Given the description of an element on the screen output the (x, y) to click on. 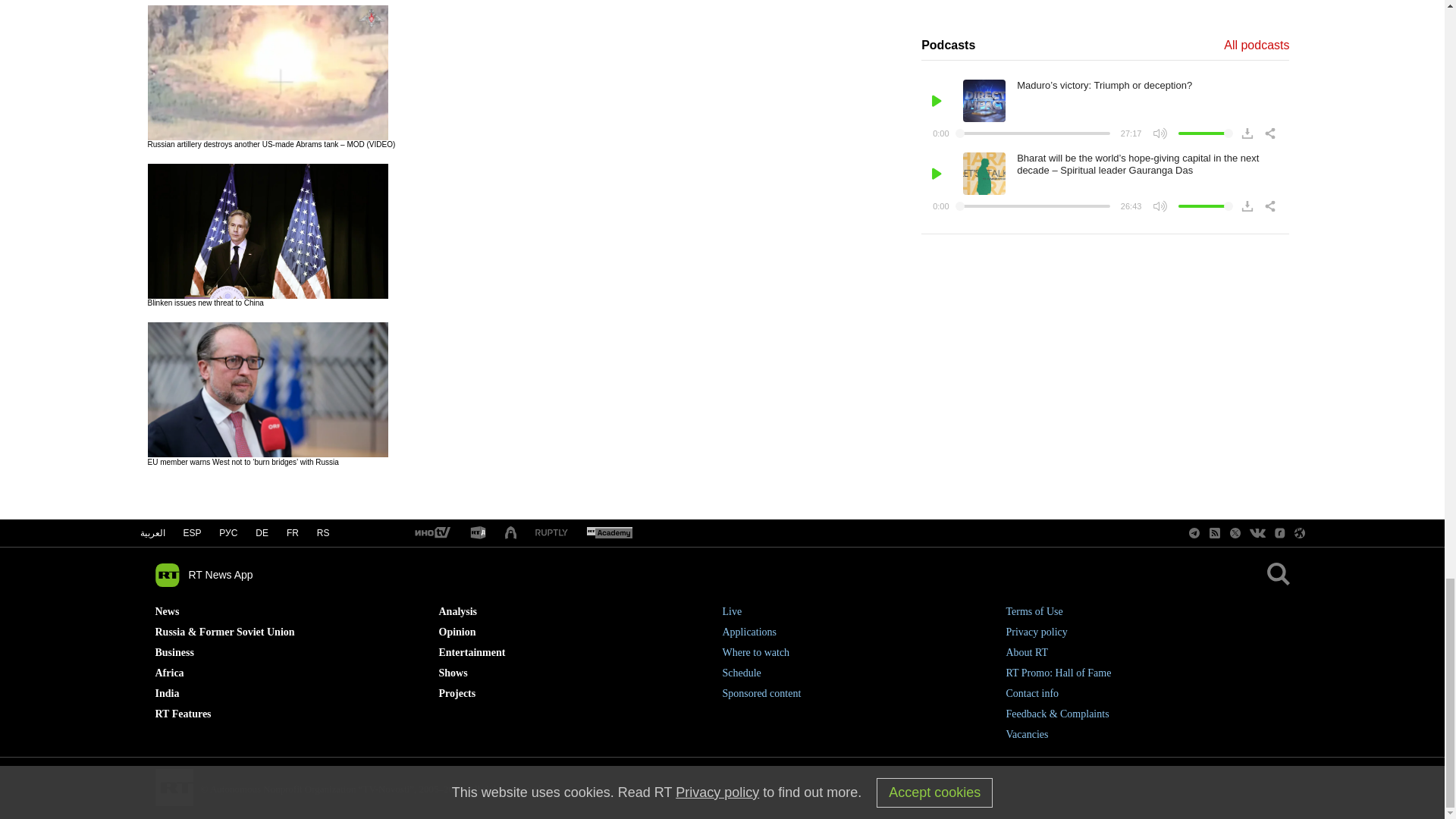
RT  (431, 533)
RT  (478, 533)
RT  (608, 533)
RT  (551, 533)
